Given the description of an element on the screen output the (x, y) to click on. 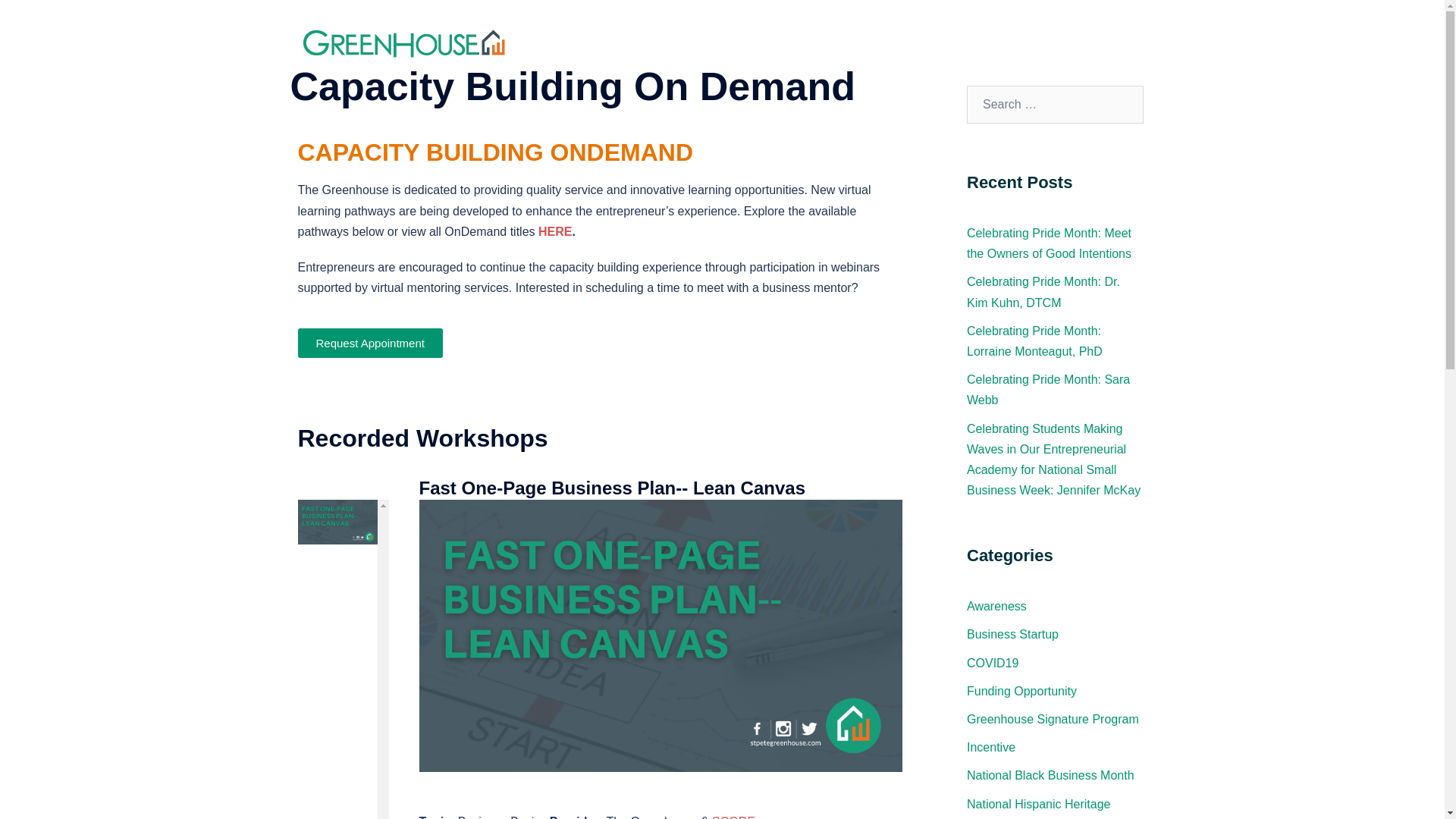
What we provide (716, 42)
Events (793, 42)
Signature Programs (878, 42)
Connect with us (1106, 42)
Greenhouse Network (996, 42)
St. Pete Greenhouse (405, 41)
HERE (555, 231)
About us (635, 42)
